Given the description of an element on the screen output the (x, y) to click on. 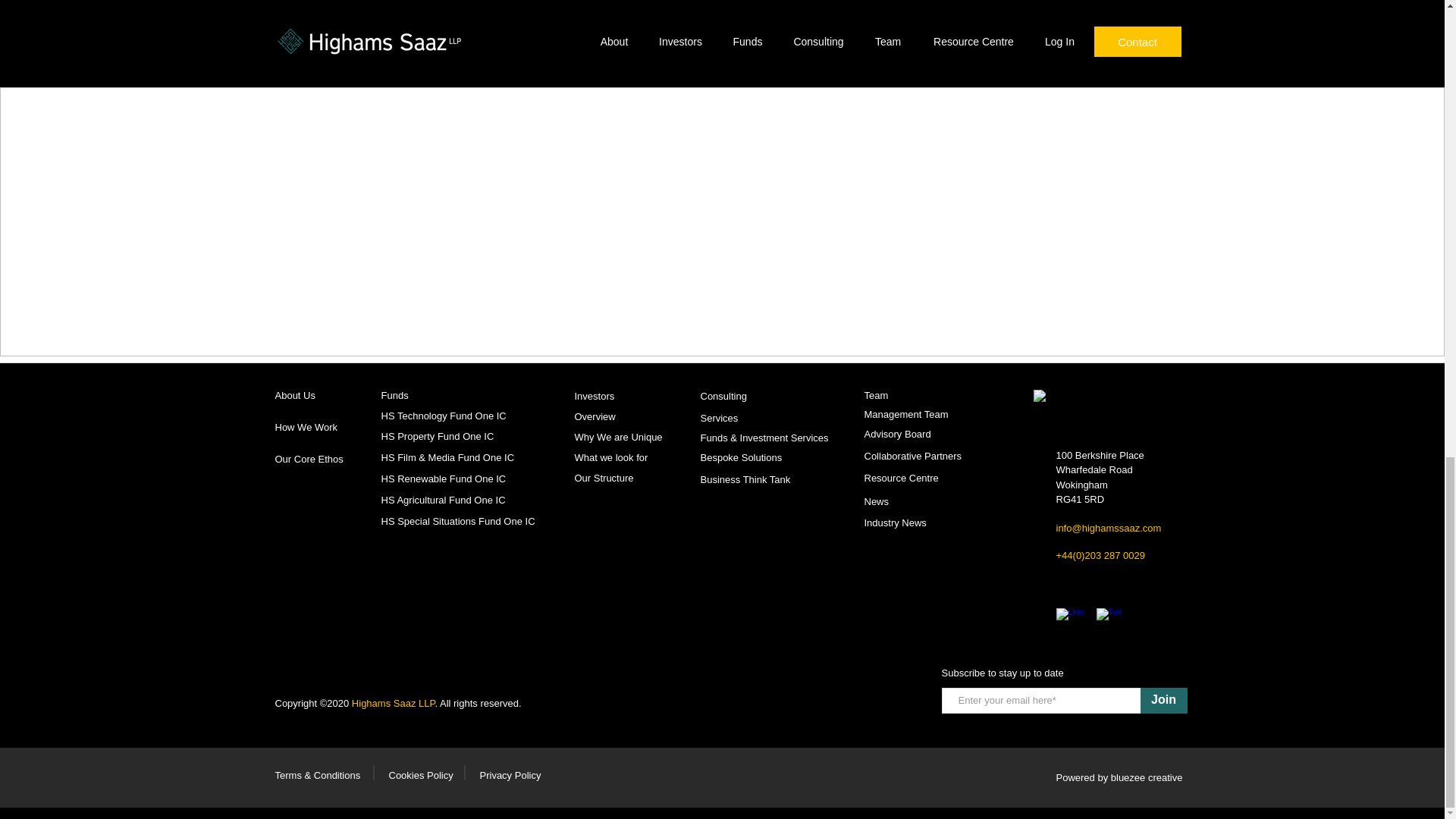
Management Team (906, 414)
Our Structure (604, 478)
Business Think Tank (745, 479)
Why We are Unique (618, 437)
Bespoke Solutions (741, 456)
HS Property Fund One IC (436, 436)
Overview (595, 416)
How We Work (306, 427)
HS Agricultural Fund One IC (442, 500)
HS Technology Fund One IC (442, 415)
